Given the description of an element on the screen output the (x, y) to click on. 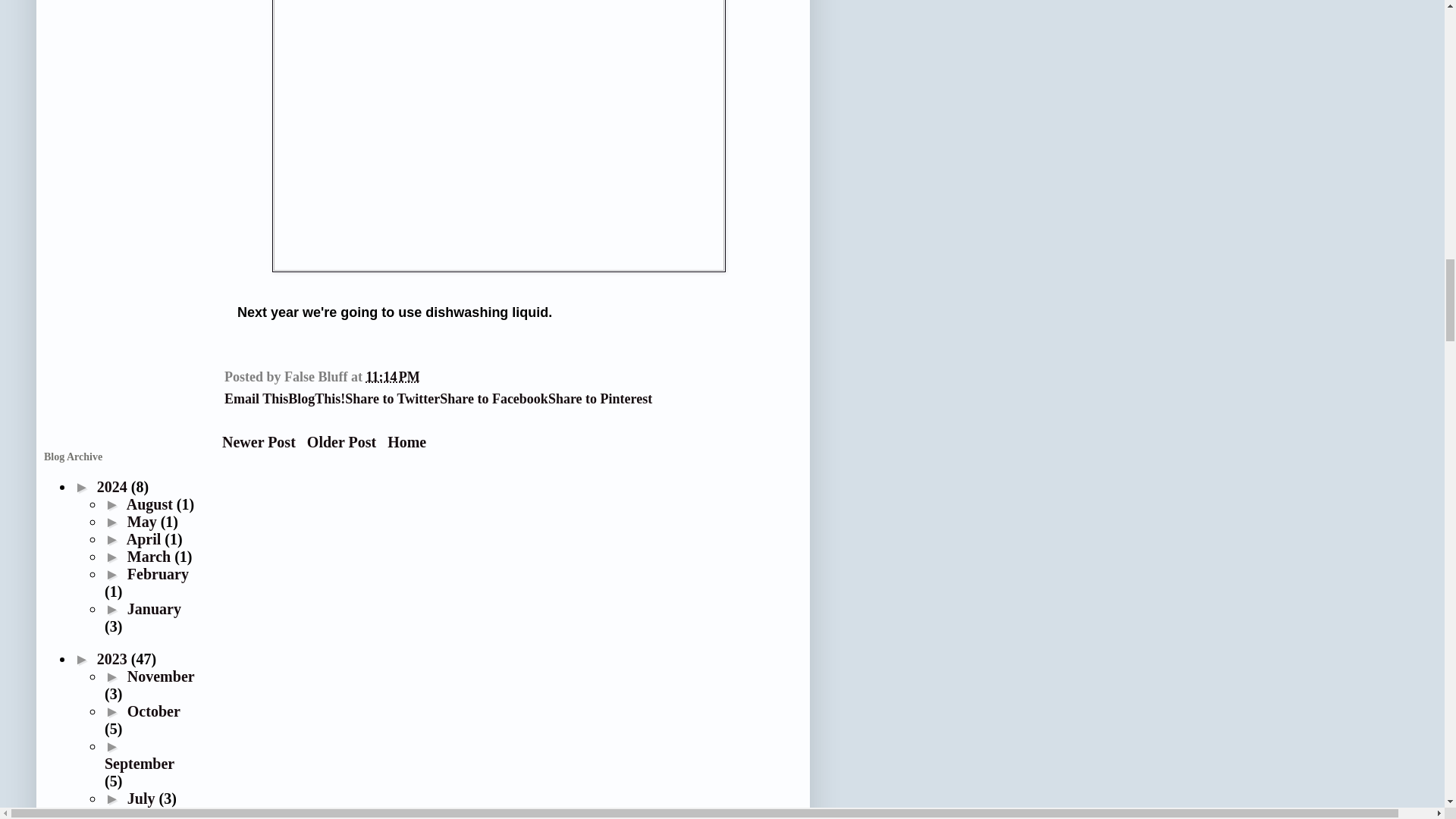
July (143, 798)
2024 (114, 486)
November (161, 676)
February (158, 573)
Newer Post (258, 441)
May (144, 521)
Older Post (341, 441)
2023 (114, 658)
Share to Twitter (392, 398)
Home (406, 441)
